Given the description of an element on the screen output the (x, y) to click on. 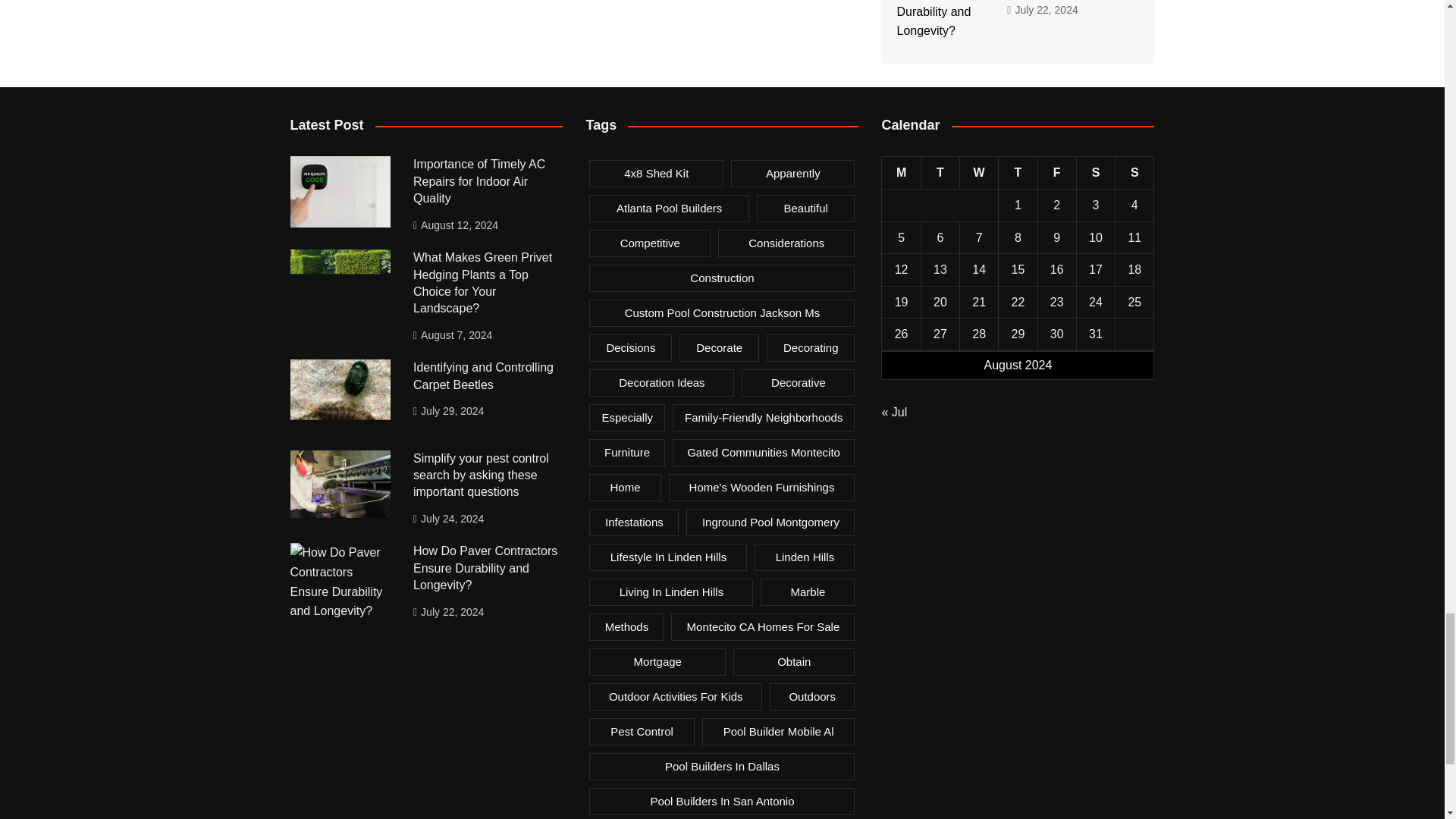
Friday (1055, 173)
Saturday (1095, 173)
Thursday (1017, 173)
Monday (901, 173)
Sunday (1134, 173)
Tuesday (939, 173)
Wednesday (978, 173)
